Given the description of an element on the screen output the (x, y) to click on. 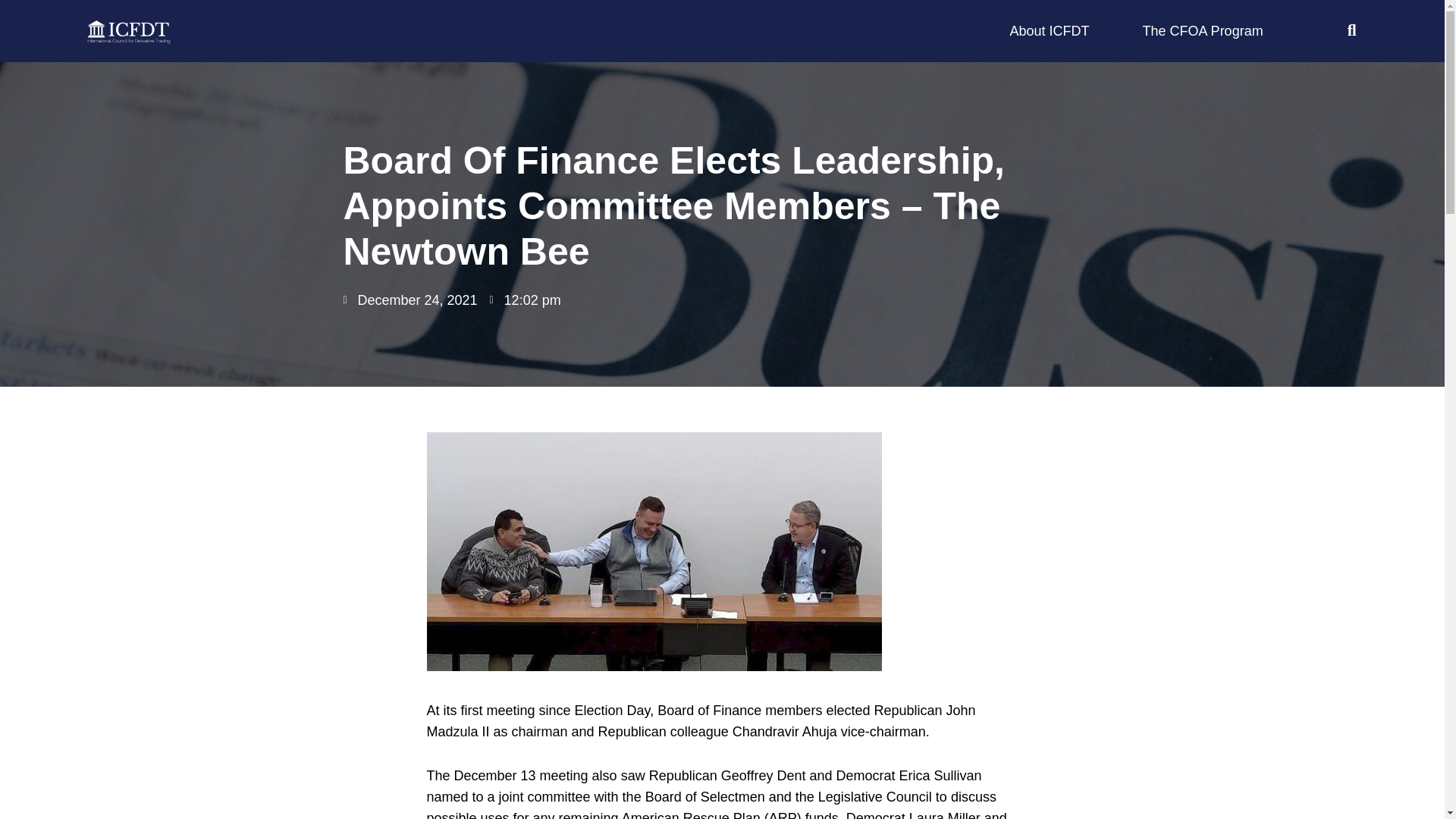
About ICFDT (1049, 30)
December 24, 2021 (409, 300)
The CFOA Program (1202, 30)
